Given the description of an element on the screen output the (x, y) to click on. 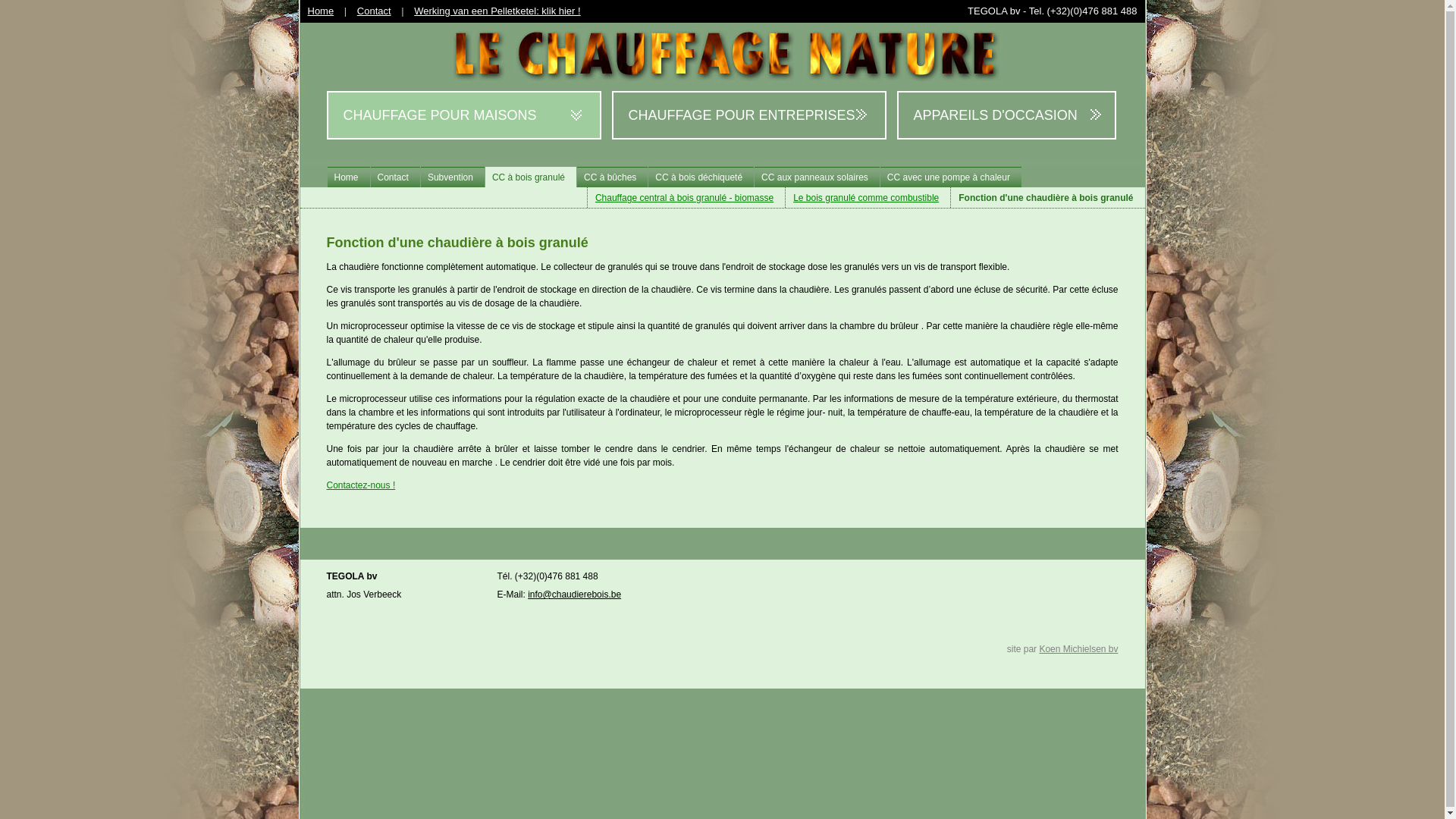
Contactez-nous ! Element type: text (360, 485)
Werking van een Pelletketel: klik hier ! Element type: text (497, 10)
site par Koen Michielsen bv Element type: text (1062, 648)
CHAUFFAGE POUR ENTREPRISES Element type: text (754, 115)
Home Element type: text (347, 176)
CC aux panneaux solaires Element type: text (816, 176)
Contact Element type: text (395, 176)
info@chaudierebois.be Element type: text (574, 594)
APPAREILS D'OCCASION Element type: text (997, 115)
Contact Element type: text (374, 10)
Home Element type: text (320, 10)
CHAUFFAGE POUR MAISONS Element type: text (469, 115)
Subvention Element type: text (452, 176)
